Given the description of an element on the screen output the (x, y) to click on. 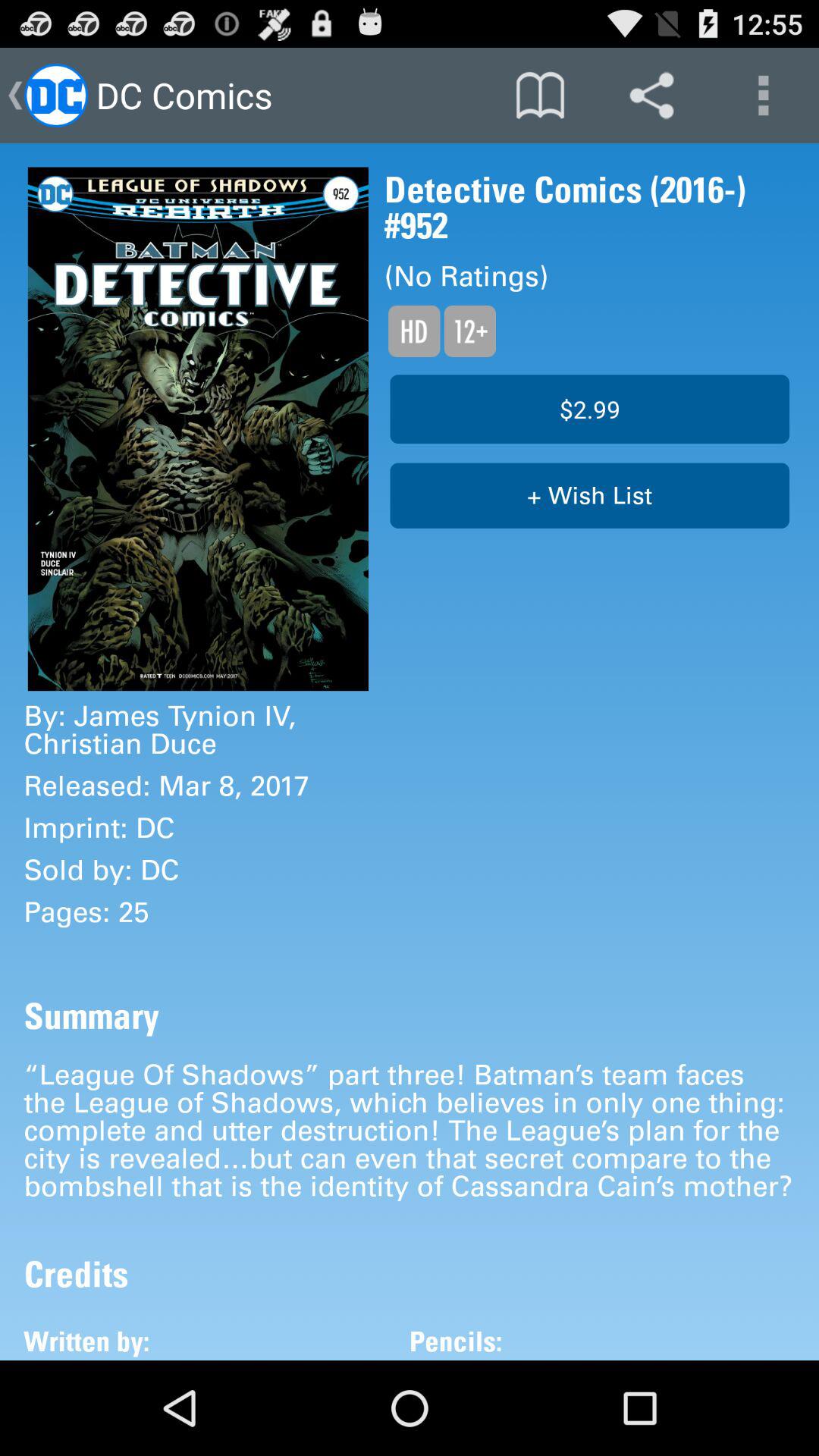
turn off icon above the detective comics 2016 item (763, 95)
